Given the description of an element on the screen output the (x, y) to click on. 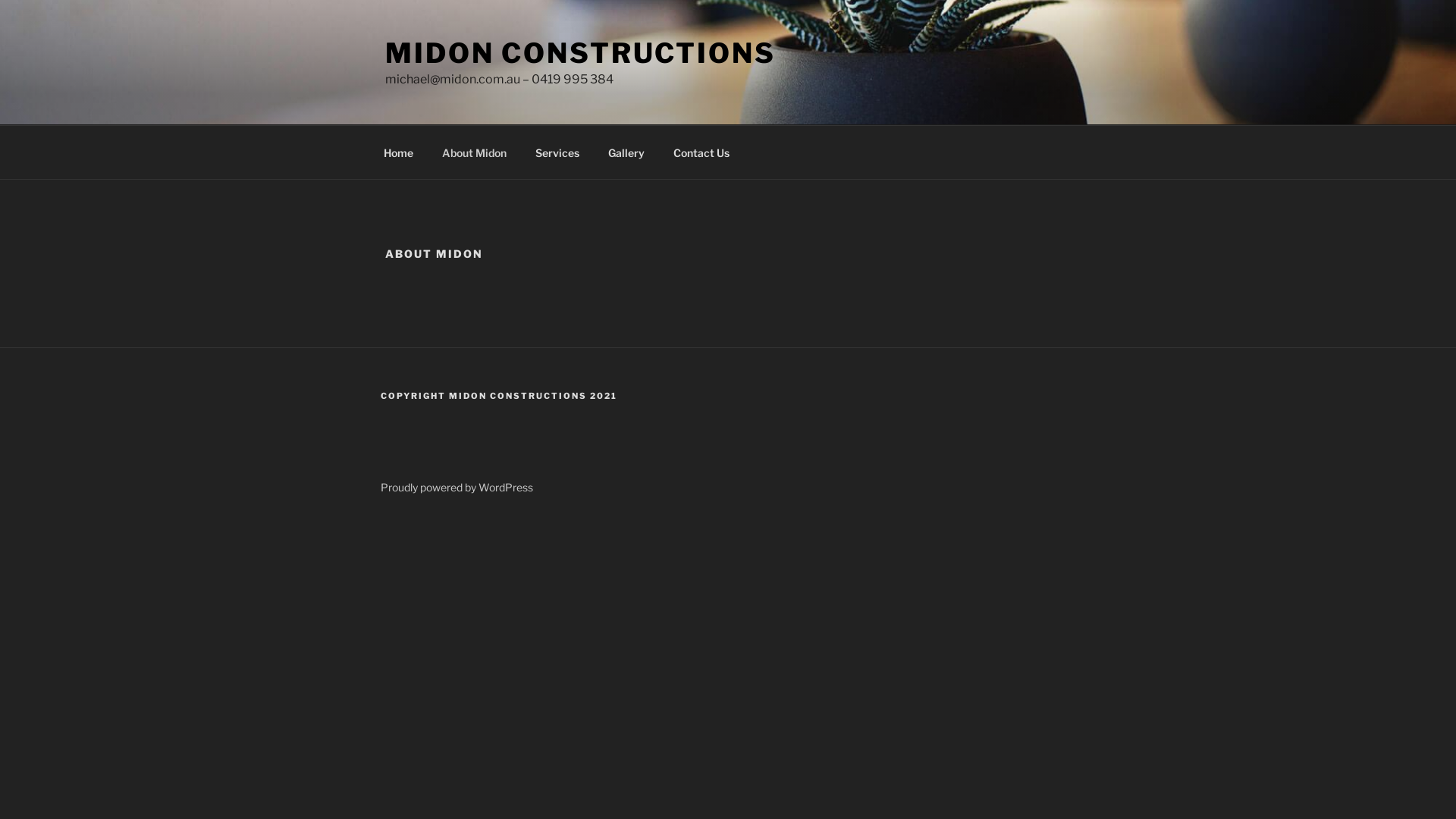
MIDON CONSTRUCTIONS Element type: text (580, 52)
Home Element type: text (398, 151)
Proudly powered by WordPress Element type: text (456, 486)
Services Element type: text (556, 151)
Contact Us Element type: text (700, 151)
Gallery Element type: text (625, 151)
About Midon Element type: text (473, 151)
